Given the description of an element on the screen output the (x, y) to click on. 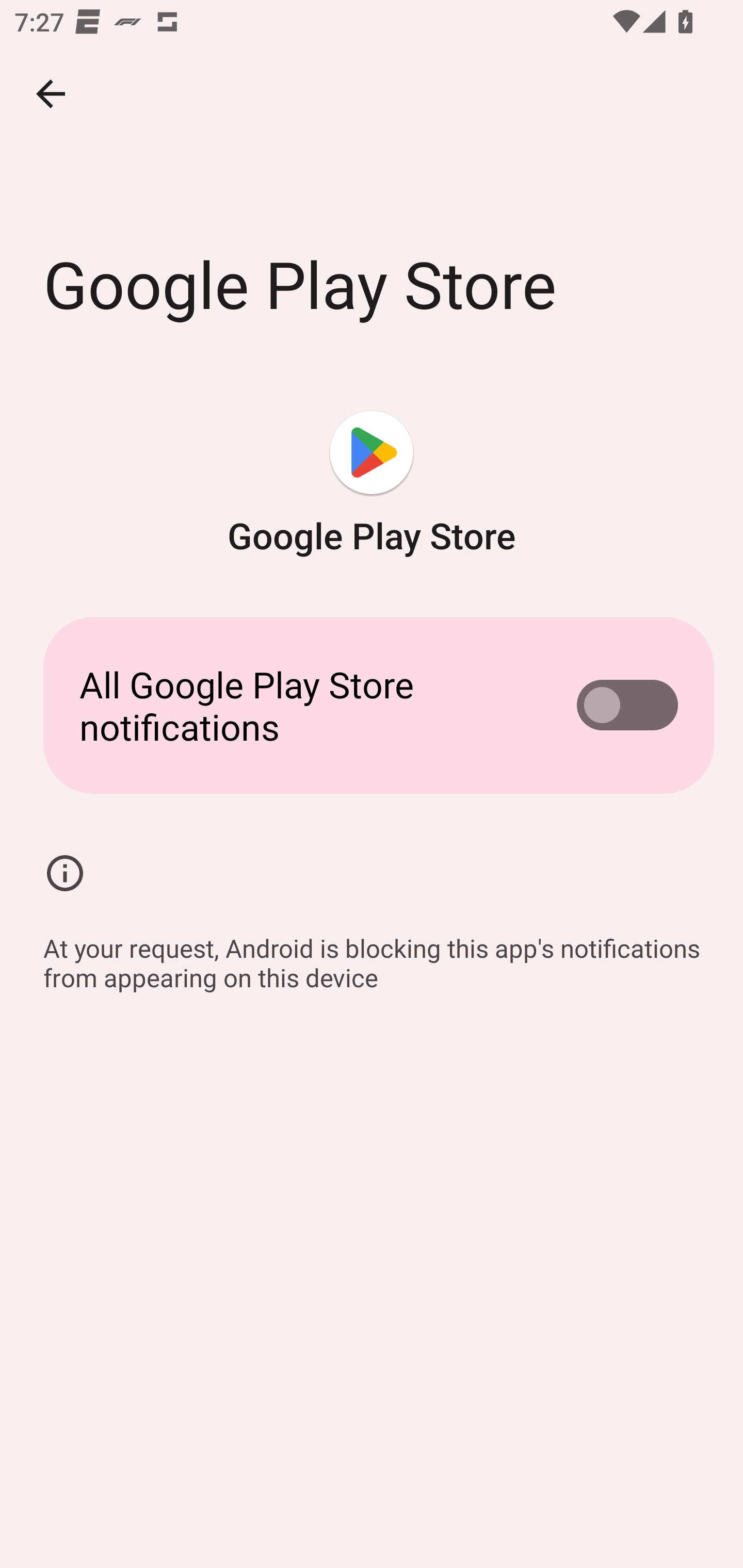
Navigate up (50, 93)
Google Play Store (371, 484)
All Google Play Store notifications (371, 705)
